Given the description of an element on the screen output the (x, y) to click on. 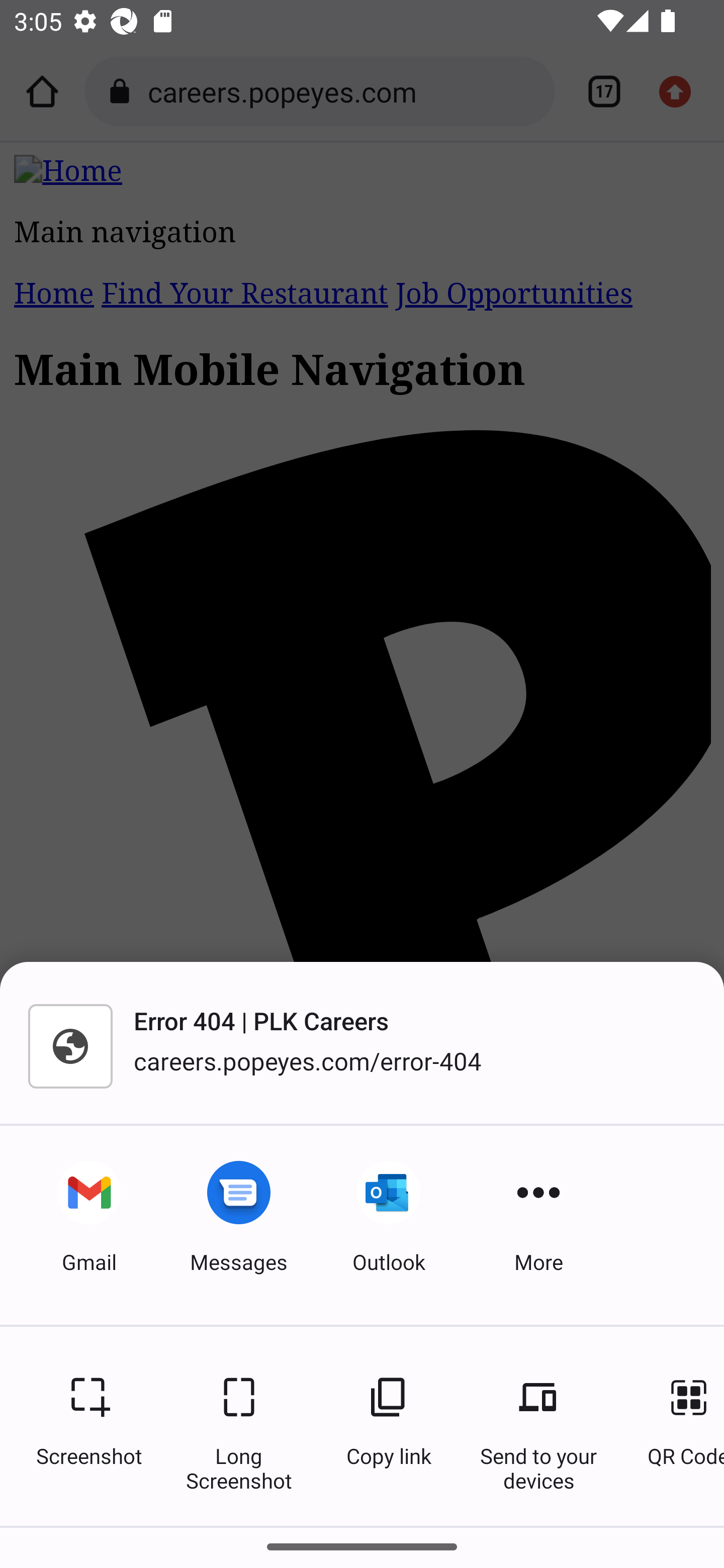
Gmail (88, 1224)
Messages (238, 1224)
Outlook (388, 1224)
More (538, 1224)
Screenshot (88, 1425)
Long Screenshot (238, 1425)
Copy link (388, 1425)
Send to your devices (538, 1425)
QR Code (675, 1425)
